Given the description of an element on the screen output the (x, y) to click on. 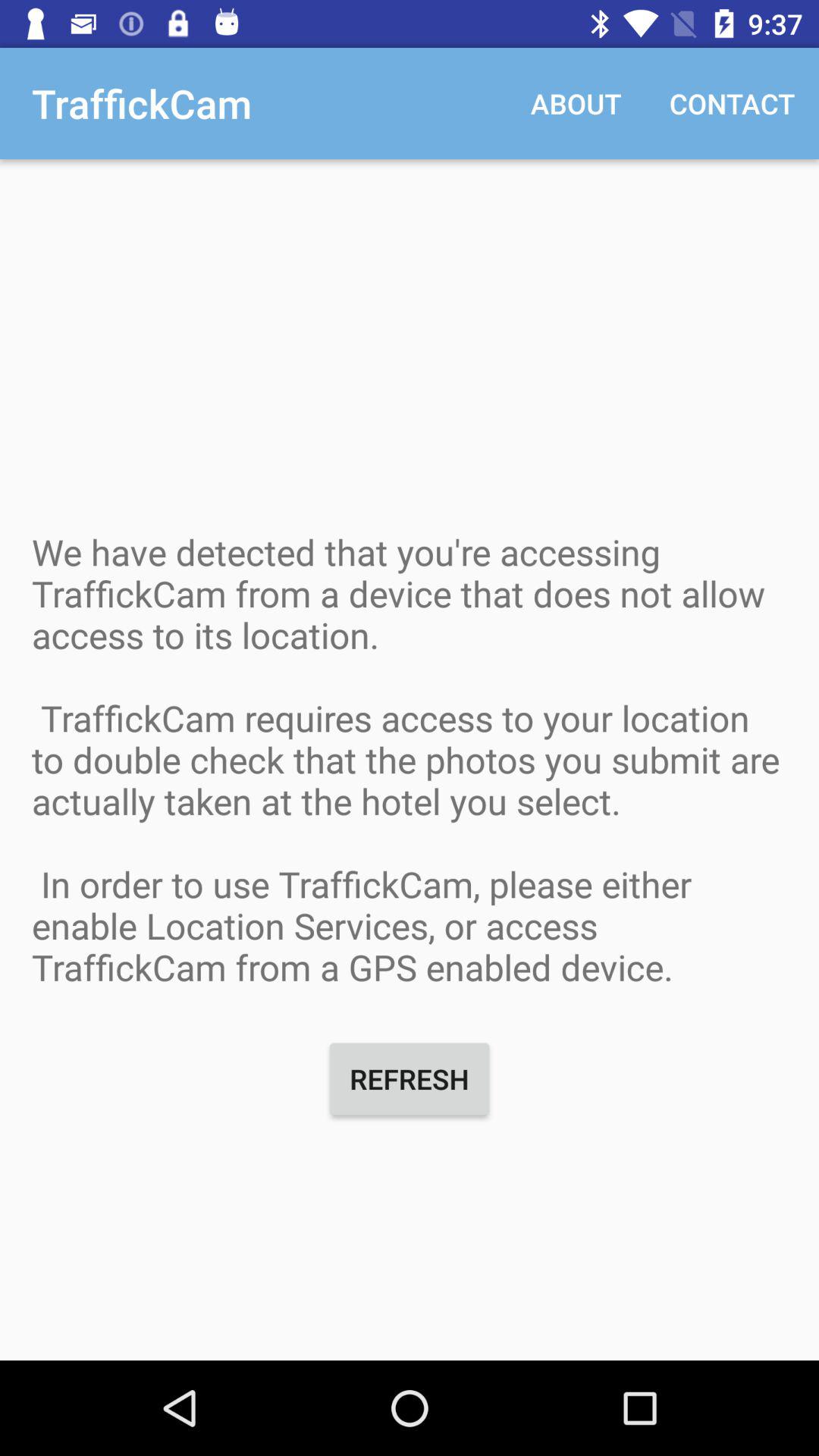
click the icon below we have detected (409, 1078)
